Given the description of an element on the screen output the (x, y) to click on. 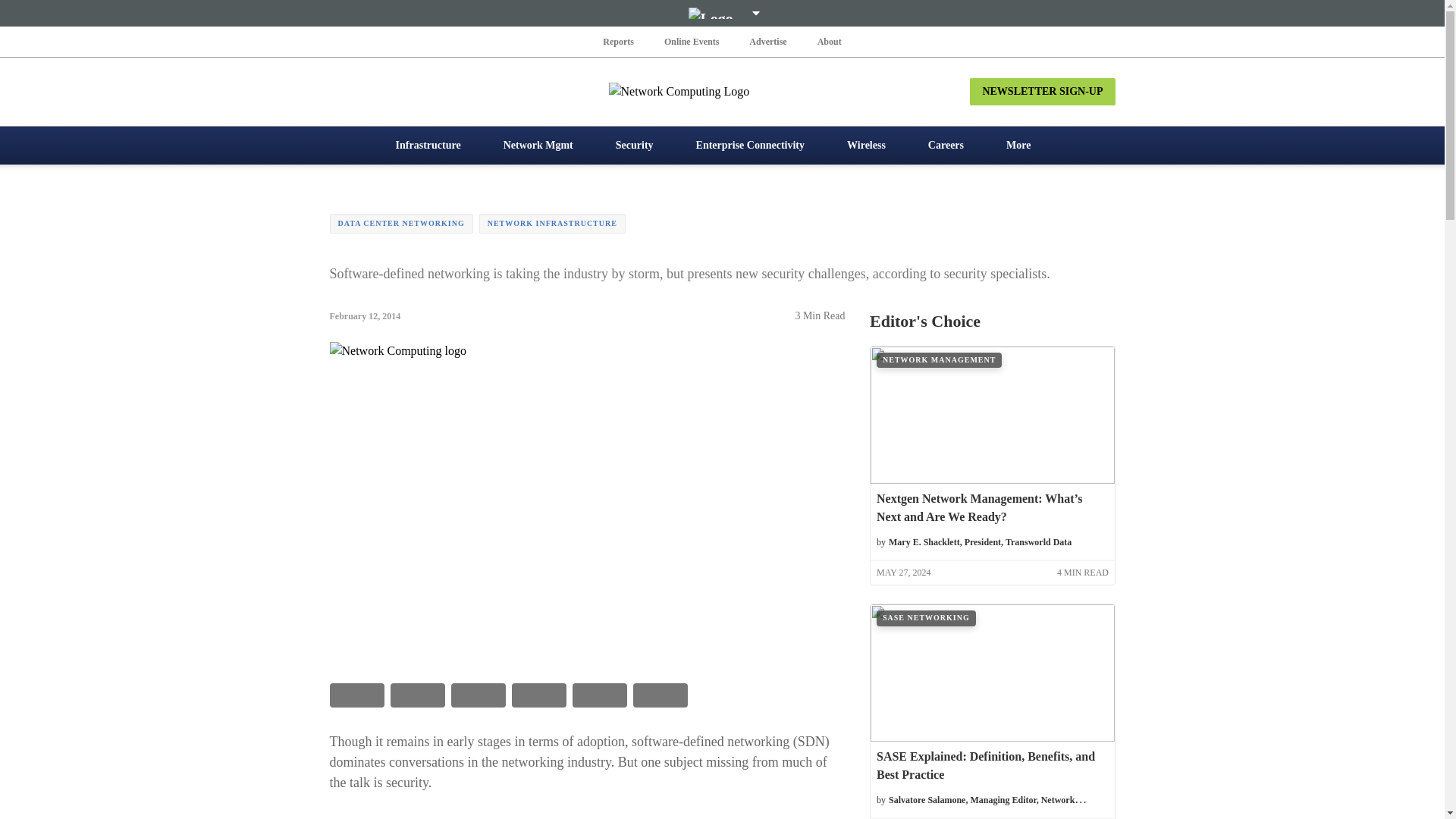
Network Computing Logo (721, 91)
About (828, 41)
Online Events (691, 41)
NEWSLETTER SIGN-UP (1042, 90)
Reports (618, 41)
Advertise (767, 41)
